Given the description of an element on the screen output the (x, y) to click on. 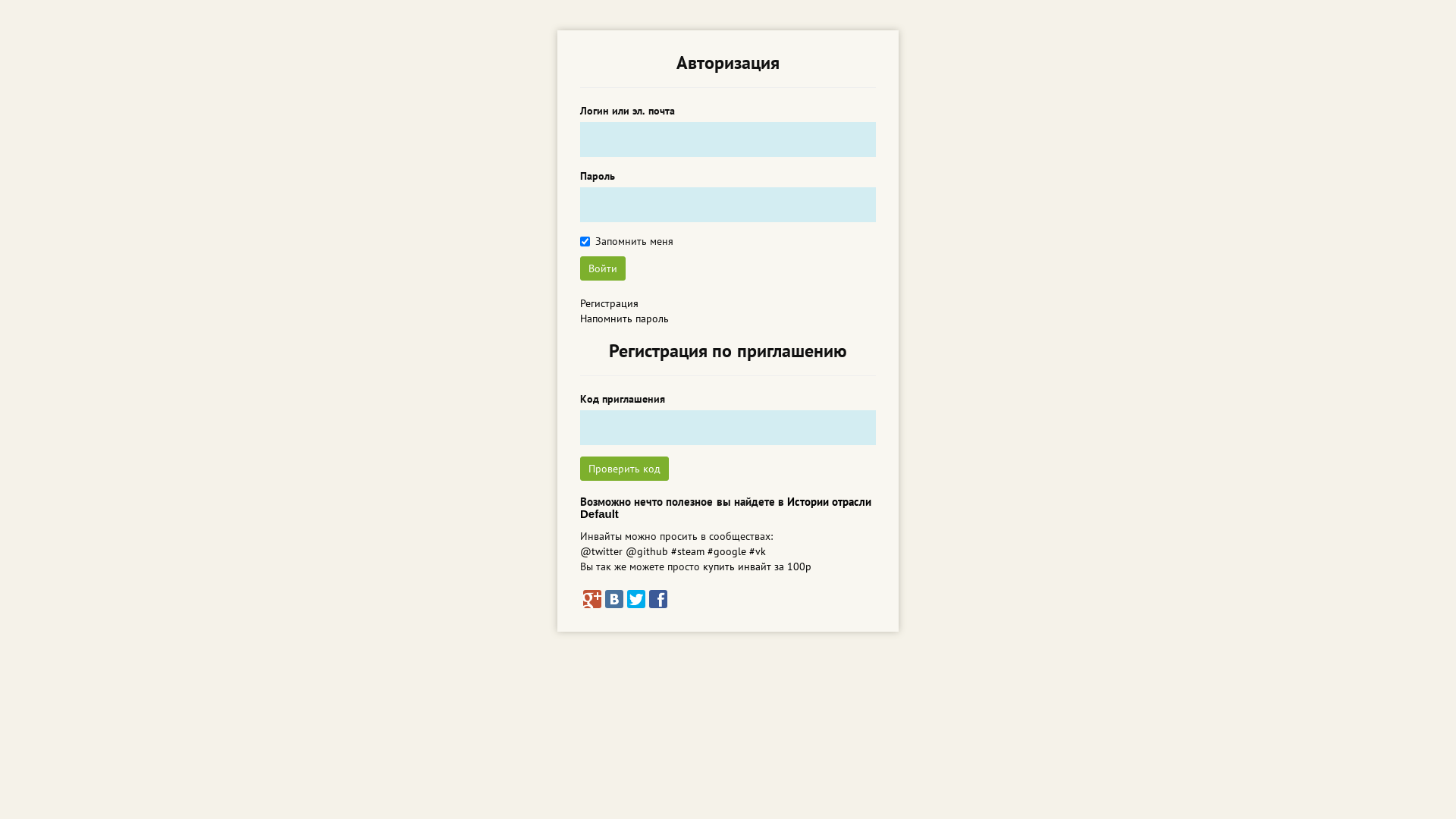
#vk Element type: text (757, 551)
@github Element type: text (646, 551)
#steam Element type: text (687, 551)
#google Element type: text (726, 551)
@twitter Element type: text (601, 551)
Google Plus Element type: hover (592, 598)
Facebook Element type: hover (658, 598)
Twitter Element type: hover (636, 598)
